Given the description of an element on the screen output the (x, y) to click on. 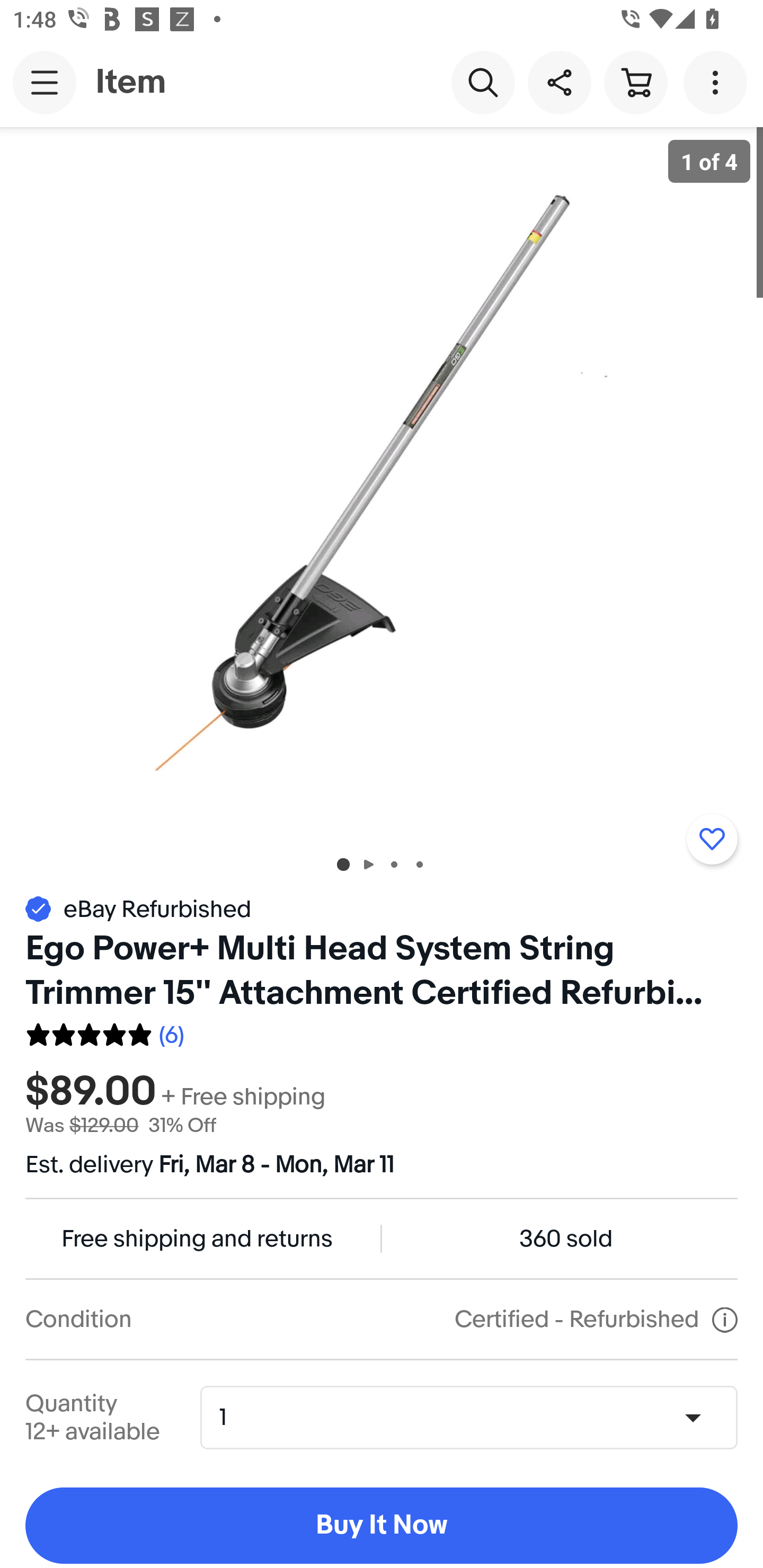
Main navigation, open (44, 82)
Search (482, 81)
Share this item (559, 81)
Cart button shopping cart (635, 81)
More options (718, 81)
Item image 1 of 4 (381, 482)
Add to watchlist (711, 838)
Quantity,1,12+ available 1 (474, 1417)
Buy It Now (381, 1525)
